Given the description of an element on the screen output the (x, y) to click on. 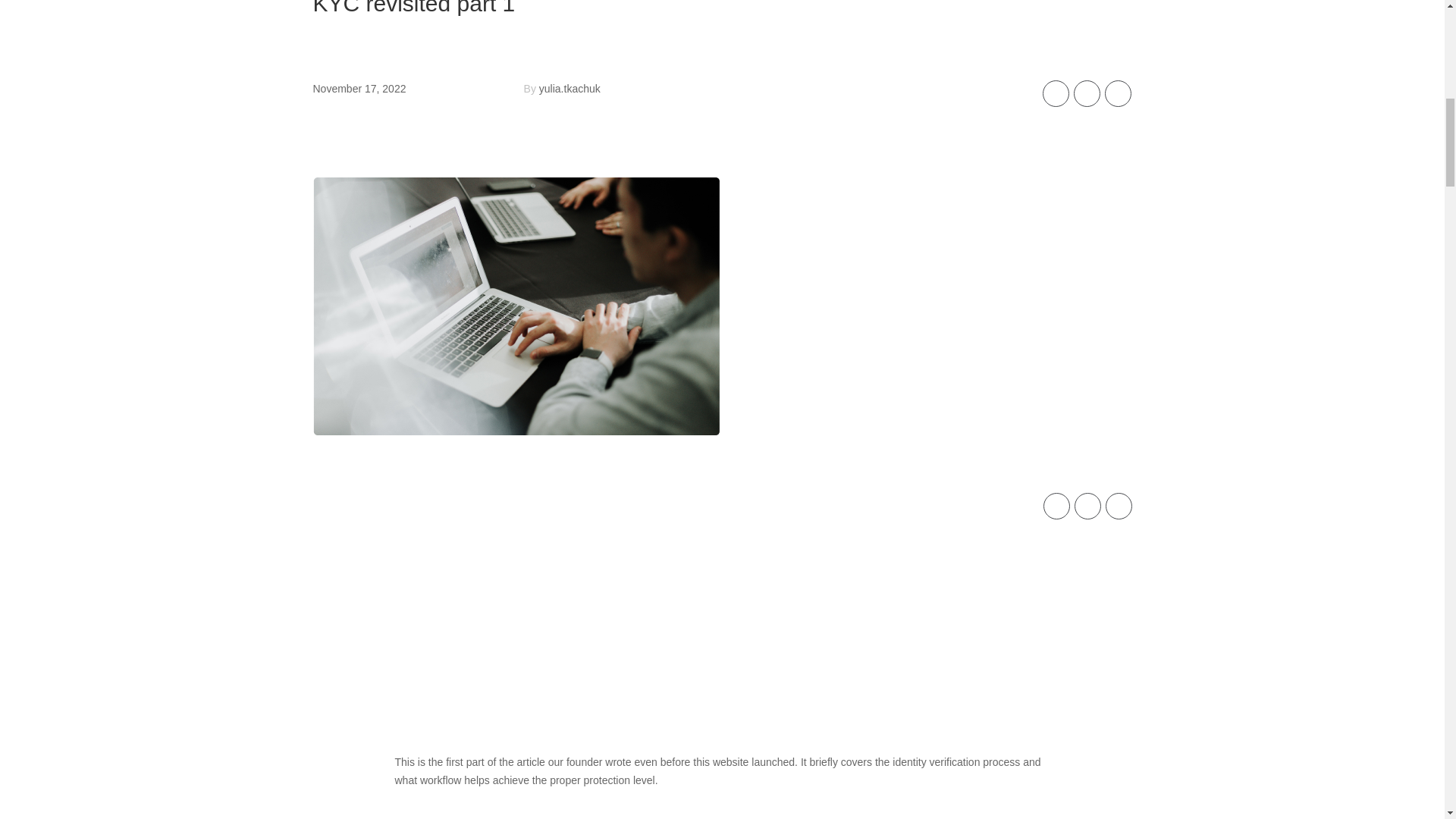
fb (1055, 93)
fb (1087, 506)
tw (1118, 506)
ln (1087, 93)
tw (1118, 93)
ln (1056, 506)
KYC revisited key image (516, 305)
